Given the description of an element on the screen output the (x, y) to click on. 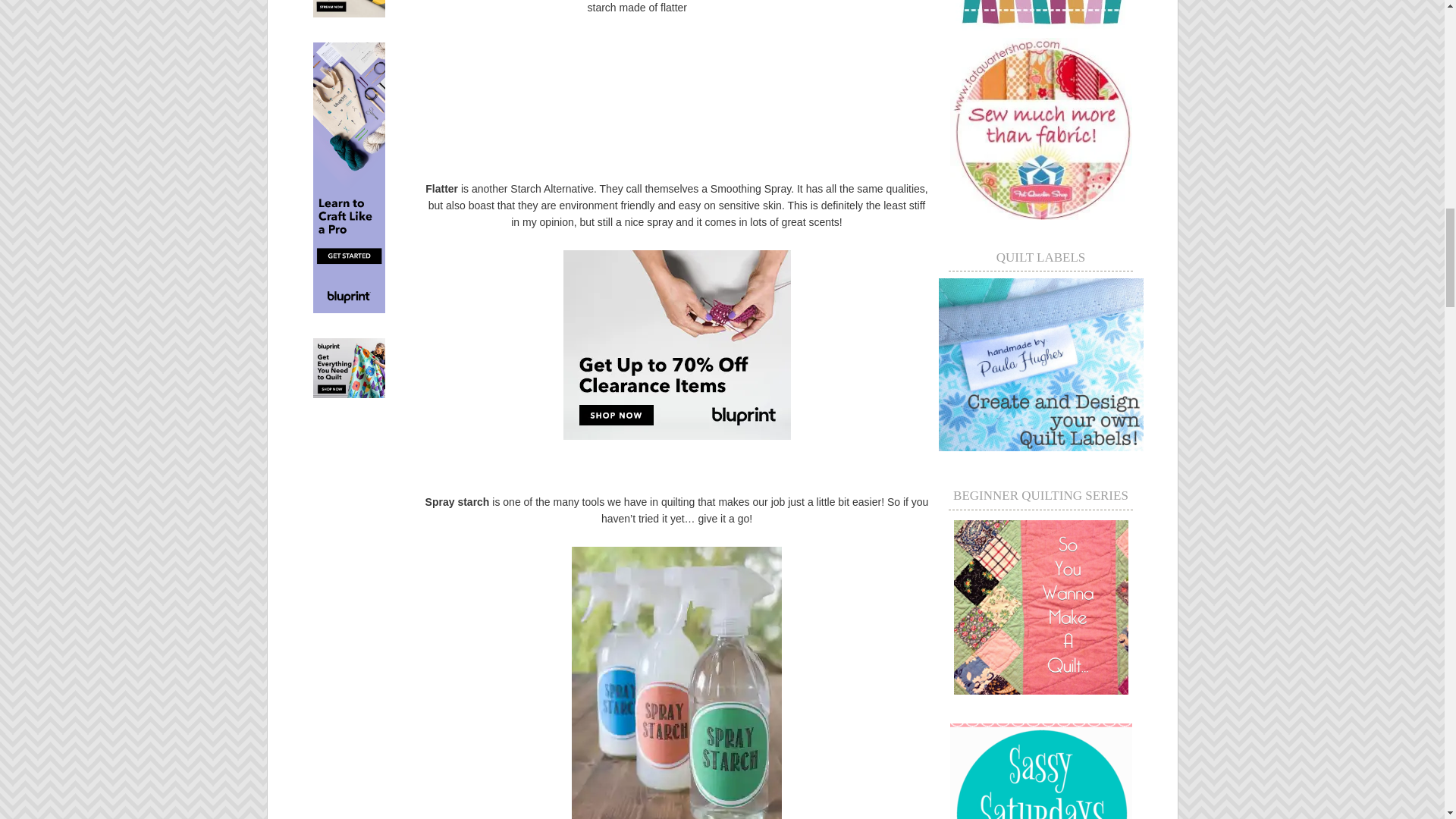
Fat Quarter Shop (1040, 215)
The Sassy Quilter (1040, 607)
Gotcha Covered Quilting (1040, 31)
